Given the description of an element on the screen output the (x, y) to click on. 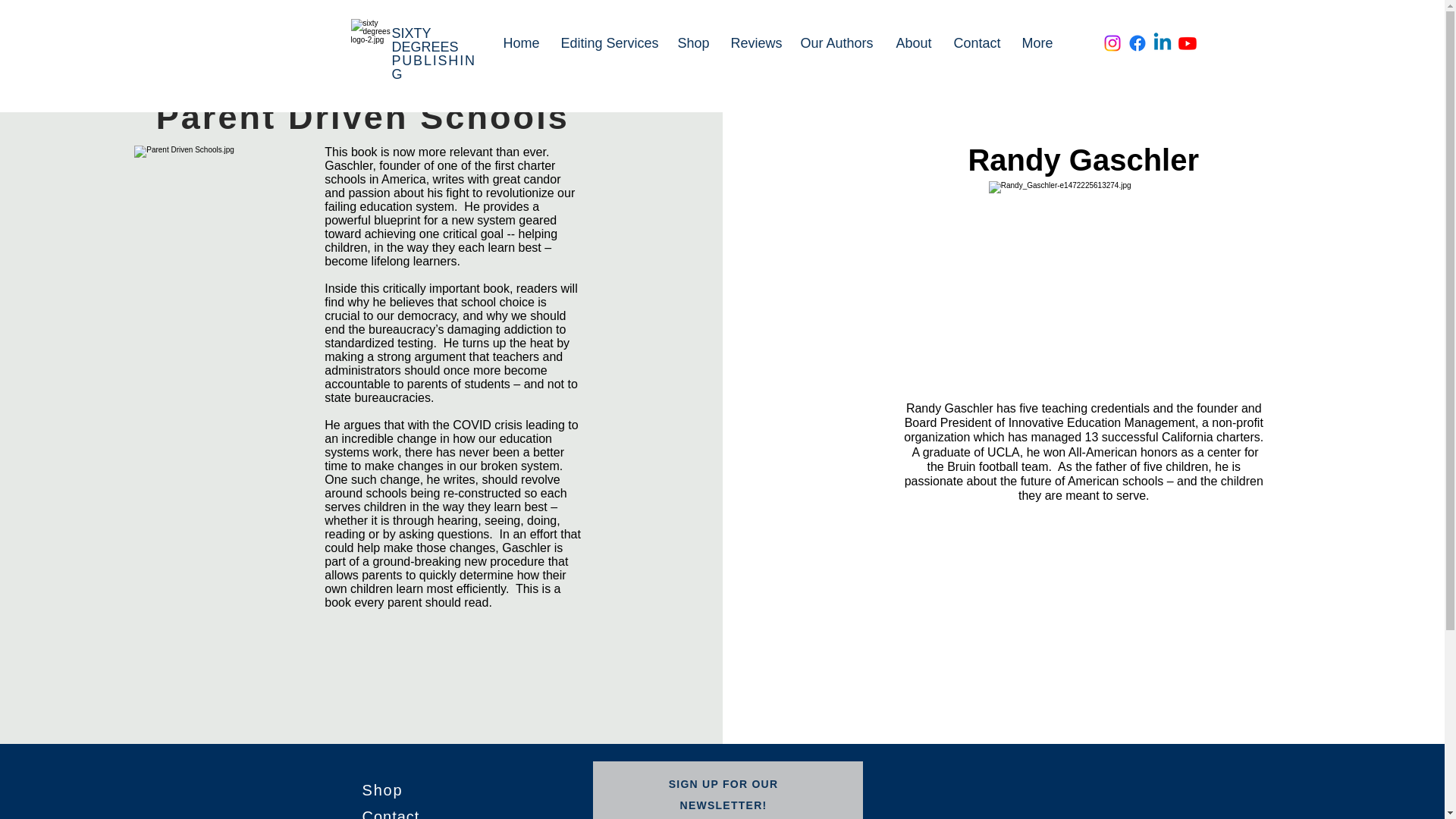
Shop (692, 43)
Contact (976, 43)
Home (520, 43)
Contact (391, 813)
Reviews (754, 43)
About (912, 43)
Editing Services (606, 43)
Our Authors (836, 43)
Shop (382, 790)
